Given the description of an element on the screen output the (x, y) to click on. 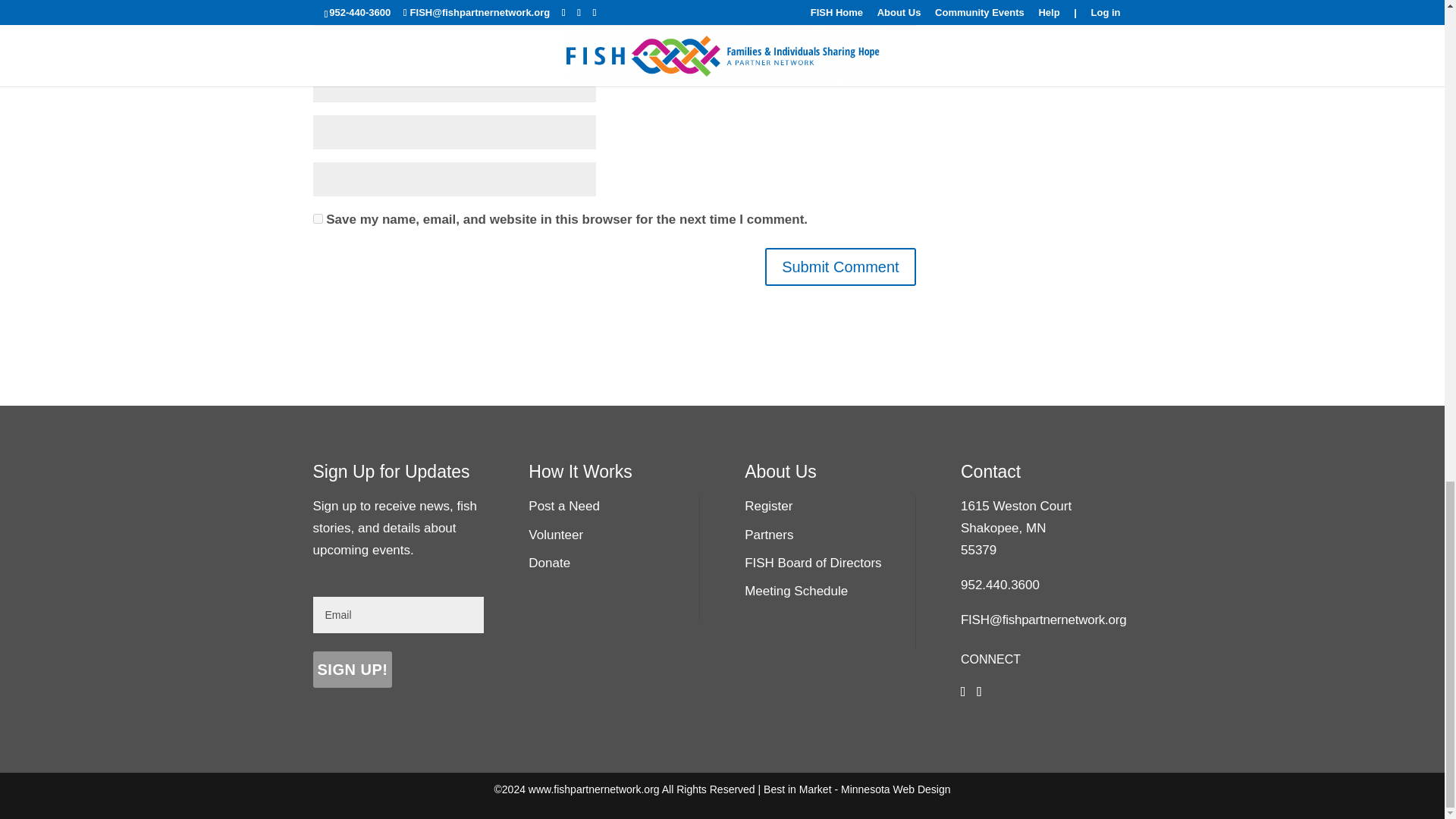
yes (317, 218)
Submit Comment (840, 266)
Volunteer (555, 534)
Post a Need (563, 505)
Meeting Schedule (795, 590)
Donate (549, 563)
Minnesota Web Design (895, 788)
Sign up! (352, 669)
Register (768, 505)
Partners (768, 534)
Sign up! (352, 669)
Submit Comment (840, 266)
FISH Board of Directors (812, 563)
